Given the description of an element on the screen output the (x, y) to click on. 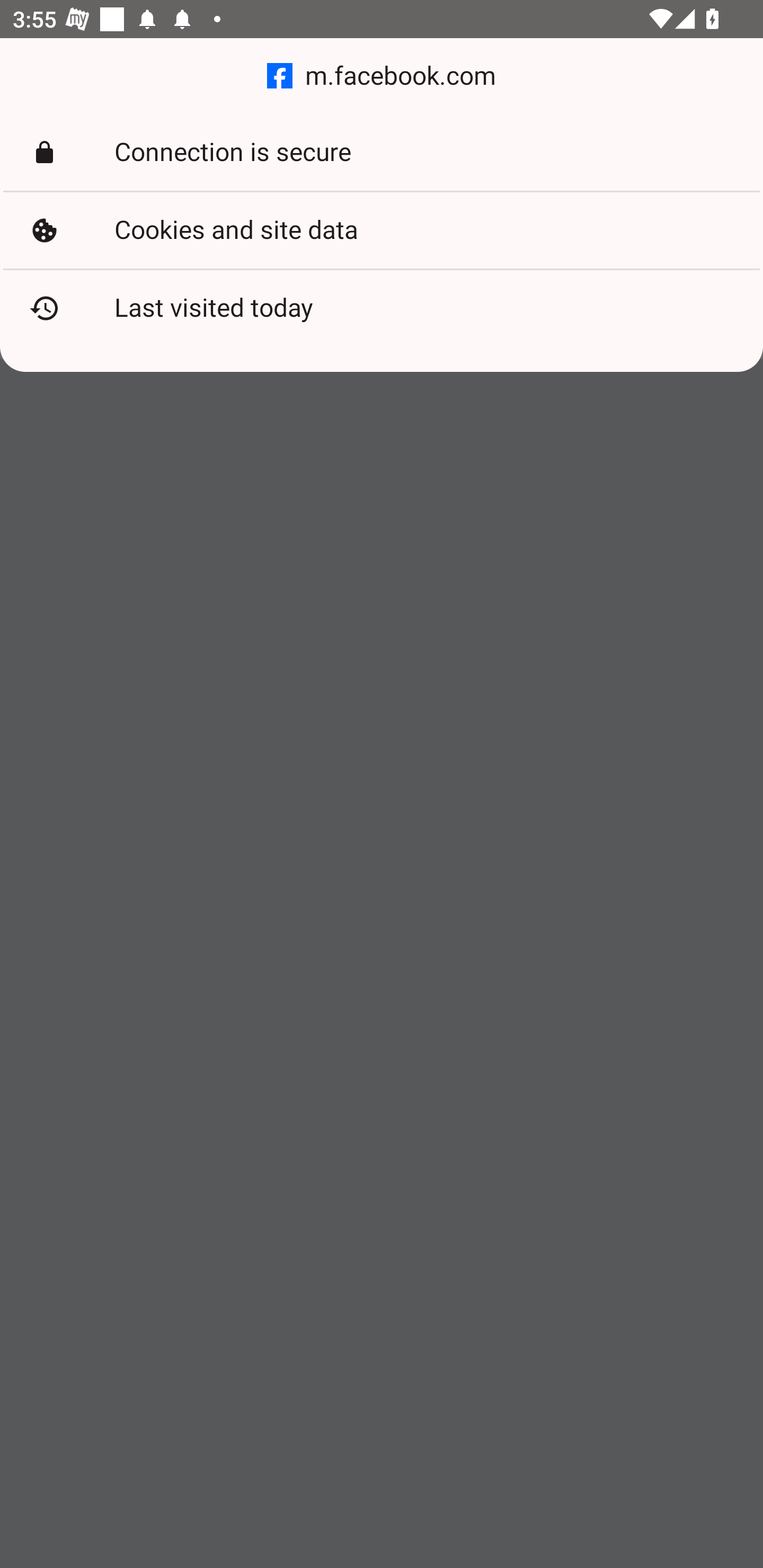
m.facebook.com (381, 75)
Connection is secure (381, 152)
Cookies and site data (381, 230)
Last visited today (381, 307)
